Given the description of an element on the screen output the (x, y) to click on. 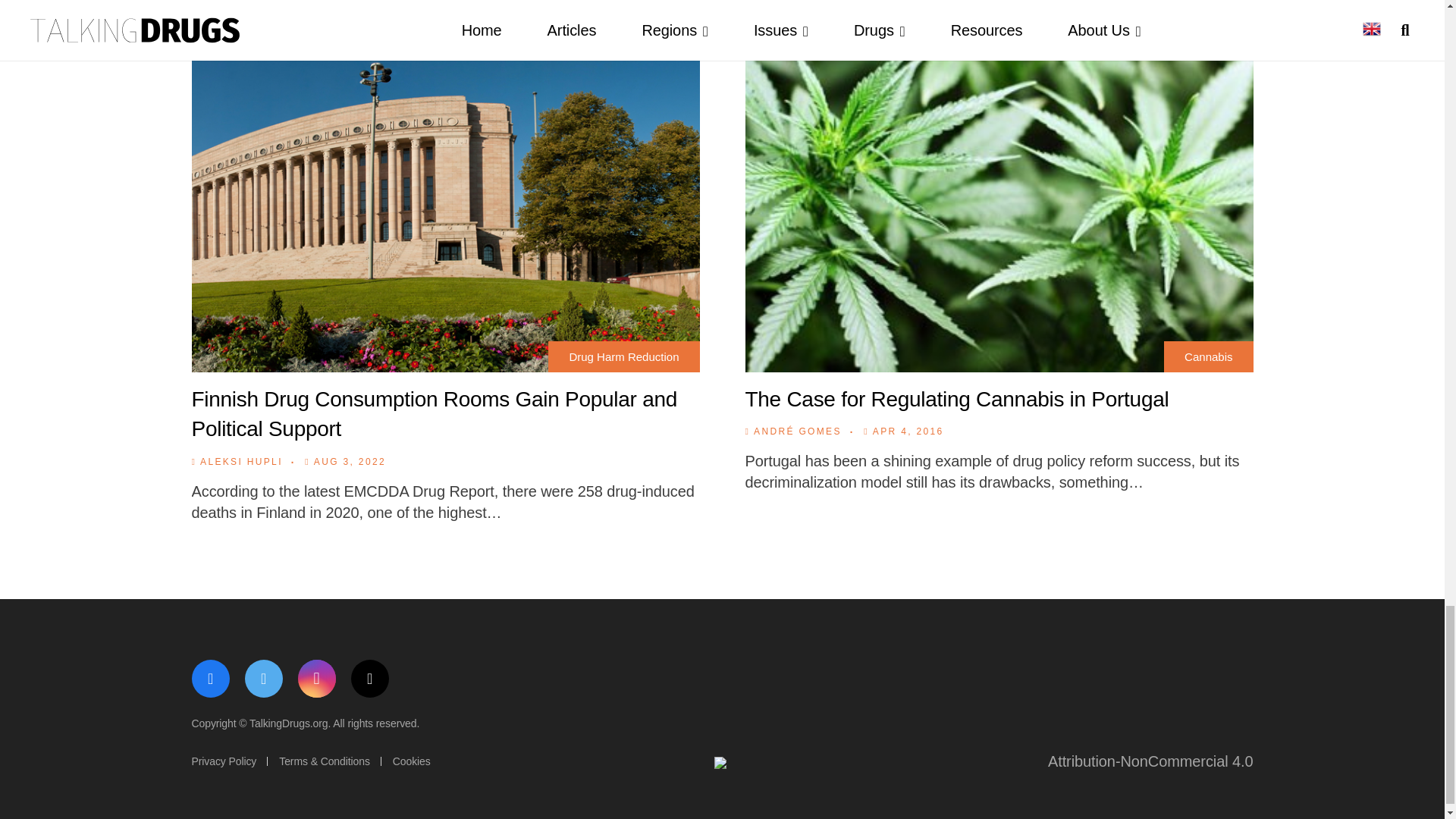
TikTok (369, 678)
Twitter (263, 678)
Instagram (315, 678)
Web Design (721, 764)
Facebook (209, 678)
